Given the description of an element on the screen output the (x, y) to click on. 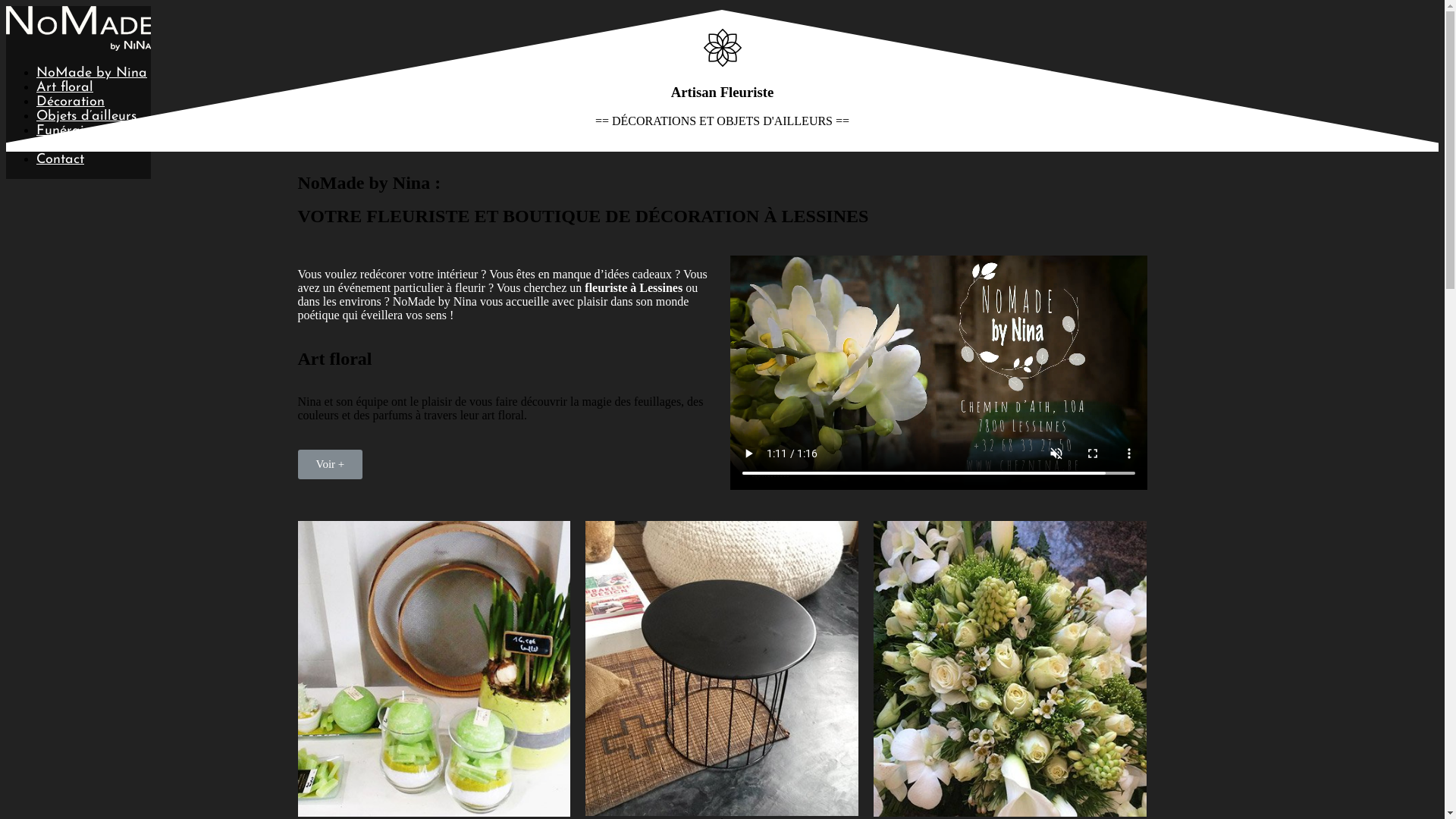
Contact Element type: text (60, 159)
NoMade by Nina Element type: text (91, 72)
Voir + Element type: text (329, 464)
Art floral Element type: text (64, 87)
